Given the description of an element on the screen output the (x, y) to click on. 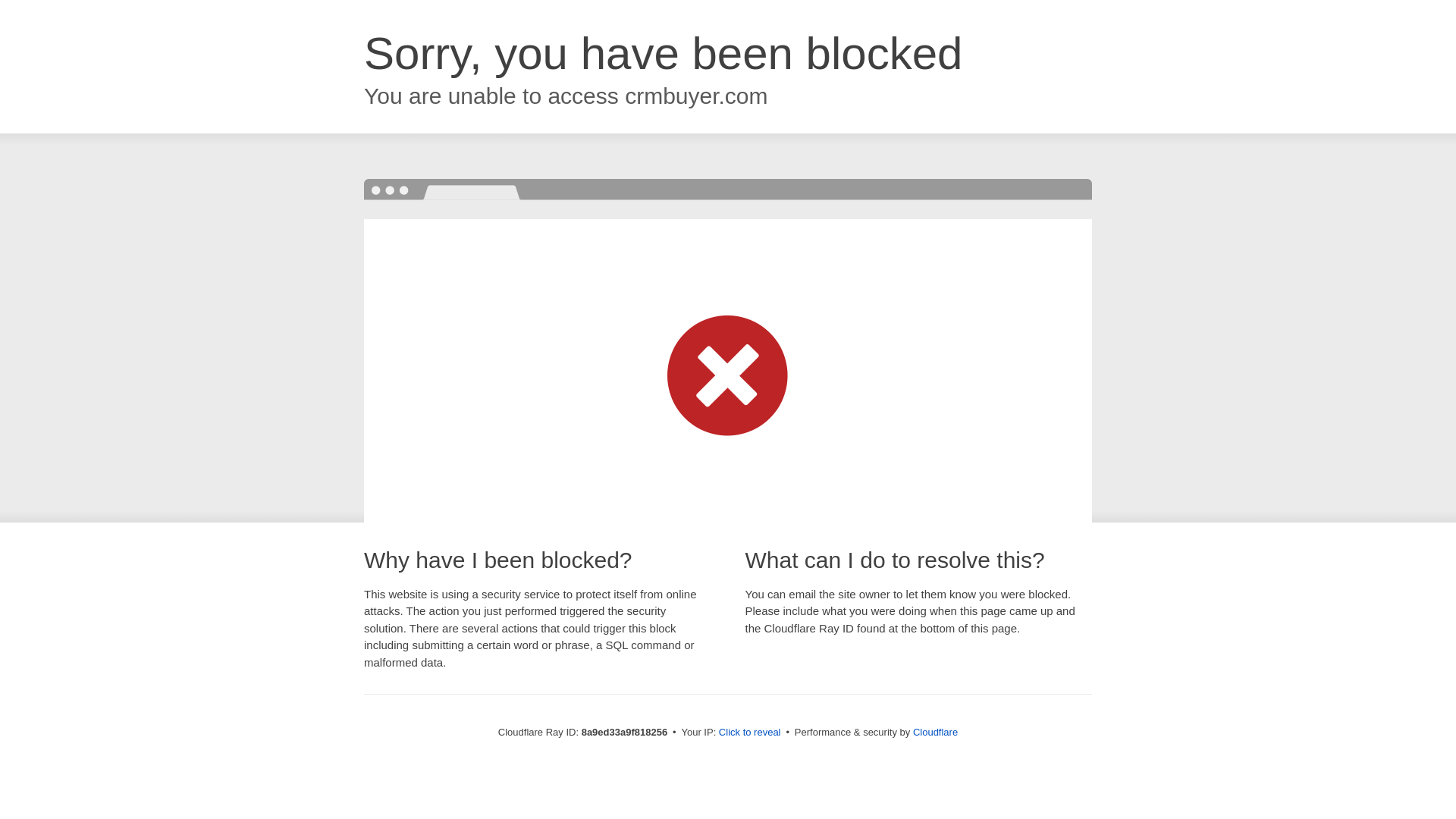
Click to reveal (749, 732)
Cloudflare (935, 731)
